Given the description of an element on the screen output the (x, y) to click on. 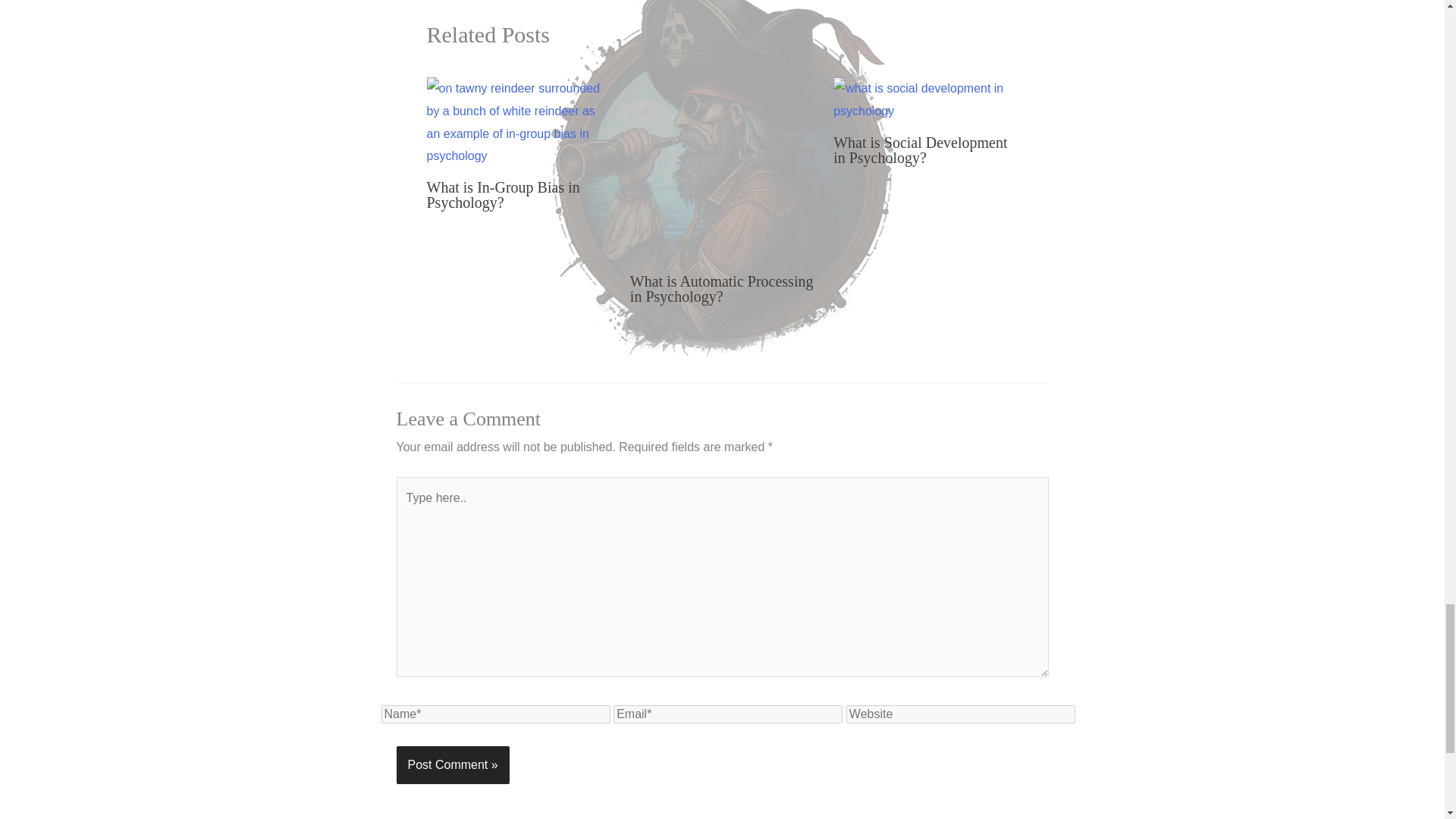
What is Social Development in Psychology? (919, 150)
What is Automatic Processing in Psychology? (721, 288)
What is In-Group Bias in Psychology? (502, 194)
